Given the description of an element on the screen output the (x, y) to click on. 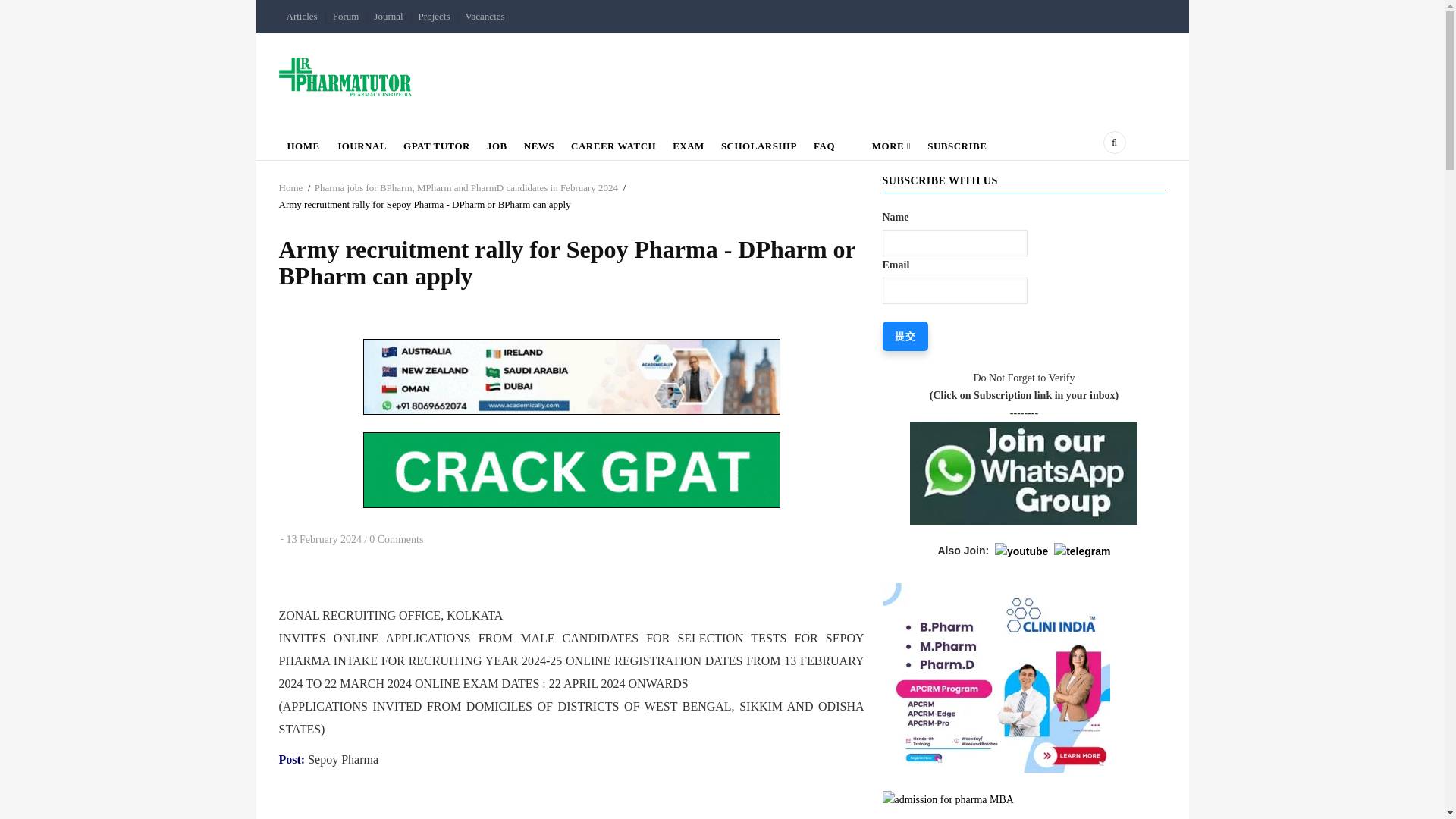
NEWS (538, 142)
SCHOLARSHIP (759, 142)
Home (345, 75)
Journal (388, 16)
Forum (345, 16)
Articles (301, 16)
EXAM (688, 142)
HOME (304, 142)
Projects (434, 16)
Vacancies (485, 16)
